Given the description of an element on the screen output the (x, y) to click on. 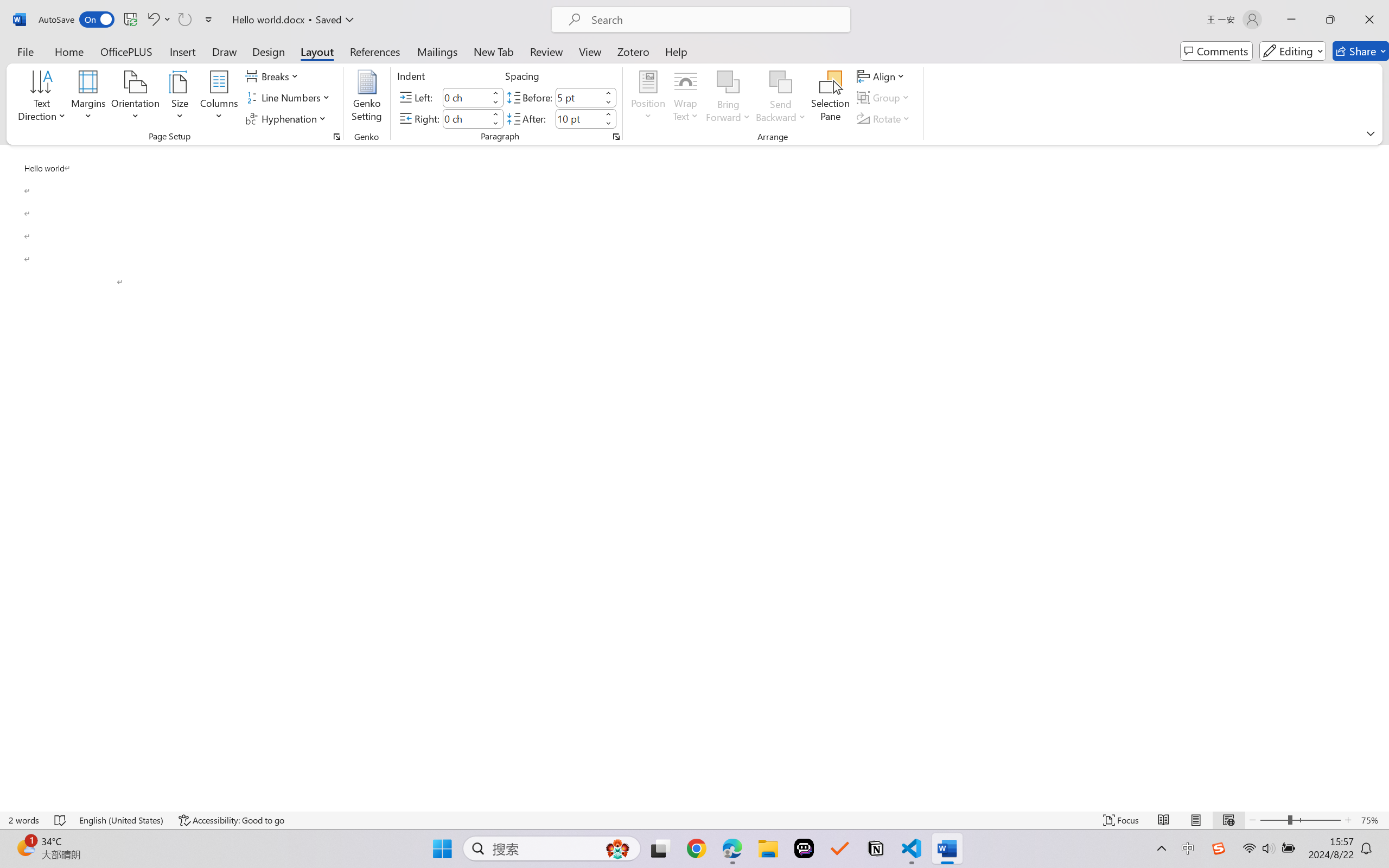
Margins (88, 97)
Hyphenation (287, 118)
Position (647, 97)
Class: Image (1218, 847)
Customize Quick Access Toolbar (208, 19)
Text Direction (42, 97)
Draw (224, 51)
Send Backward (781, 97)
Breaks (273, 75)
Review (546, 51)
Page Setup... (336, 136)
Line Numbers (289, 97)
Focus  (1121, 819)
File Tab (24, 51)
